Given the description of an element on the screen output the (x, y) to click on. 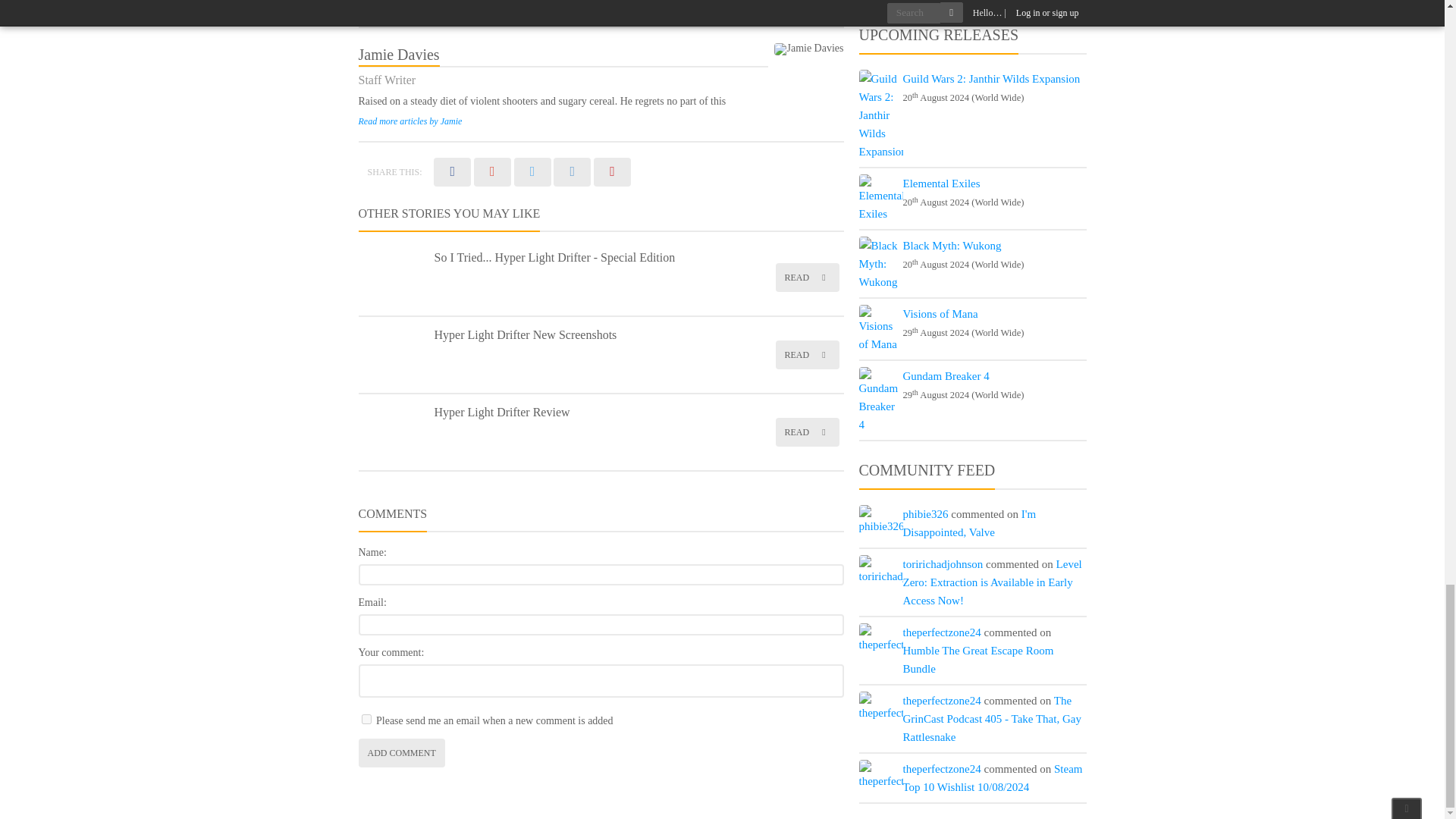
PREV (382, 5)
READ (806, 276)
on (366, 718)
Hyper Light Drifter New Screenshots (524, 334)
Read more articles by Jamie (409, 121)
So I Tried... Hyper Light Drifter - Special Edition (554, 256)
NEXT (818, 5)
